Given the description of an element on the screen output the (x, y) to click on. 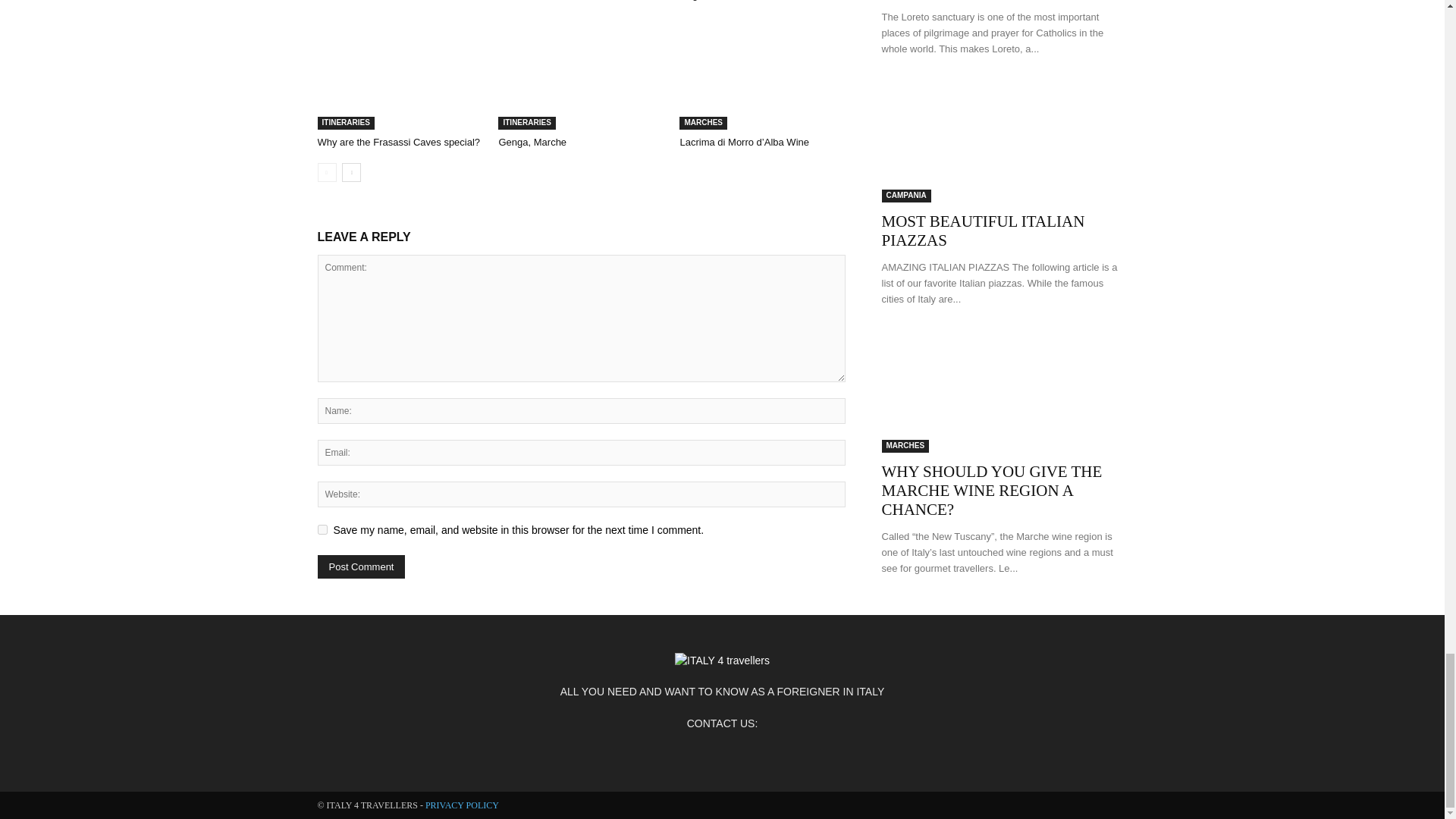
yes (321, 529)
Post Comment (360, 566)
